Given the description of an element on the screen output the (x, y) to click on. 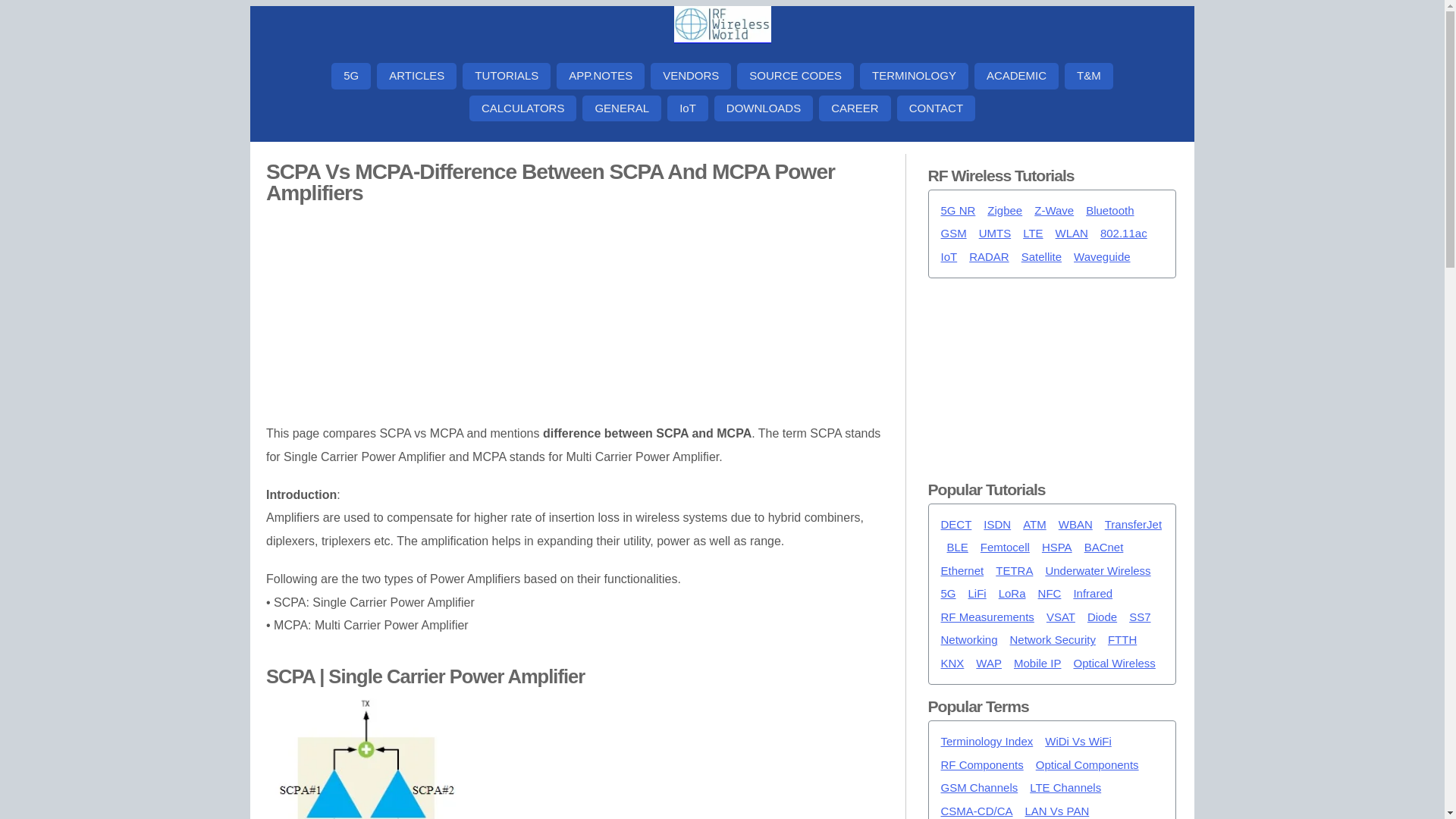
DOWNLOADS (763, 108)
TERMINOLOGY (914, 76)
IoT (686, 108)
5G (351, 76)
ACADEMIC (1016, 76)
CONTACT (935, 108)
GENERAL (621, 108)
APP.NOTES (600, 76)
Advertisement (1052, 372)
ARTICLES (417, 76)
CALCULATORS (522, 108)
SOURCE CODES (794, 76)
CAREER (854, 108)
TUTORIALS (506, 76)
